Given the description of an element on the screen output the (x, y) to click on. 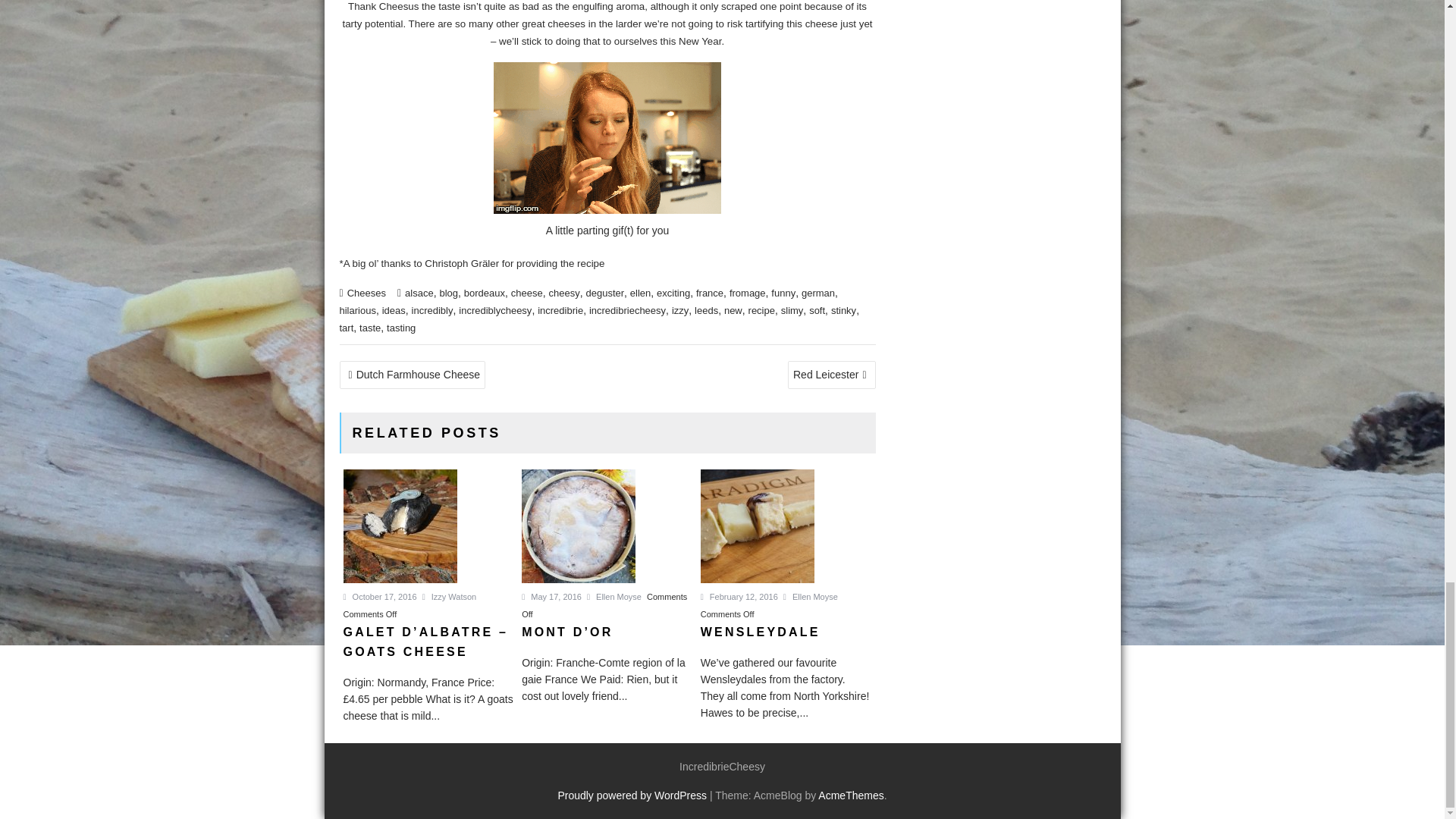
Izzy Watson (449, 596)
incredibly (432, 310)
ellen (640, 292)
exciting (673, 292)
alsace (418, 292)
incredibriecheesy (627, 310)
Ellen Moyse (810, 596)
german (818, 292)
deguster (604, 292)
cheesy (563, 292)
izzy (679, 310)
fromage (747, 292)
cheese (527, 292)
ideas (393, 310)
Cheeses (366, 292)
